Given the description of an element on the screen output the (x, y) to click on. 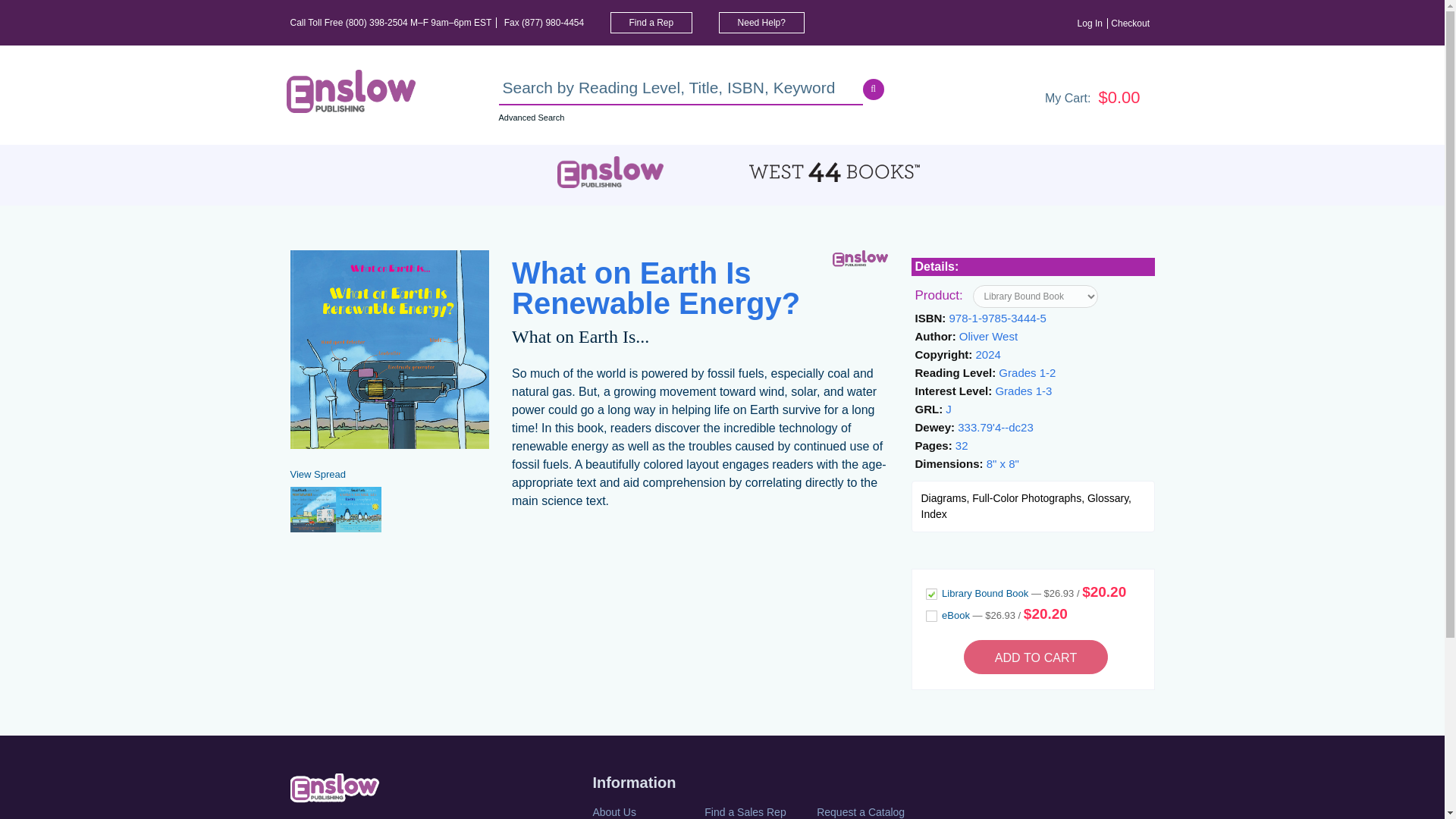
About Us (646, 811)
What on Earth Is... (580, 336)
Add to cart (1035, 656)
Add to cart (1035, 656)
Advanced Search (531, 117)
Need Help? (762, 22)
Find a Sales Rep (758, 811)
Checkout (1132, 23)
Request a Catalog (871, 811)
Find a Rep (651, 22)
Log In (1092, 23)
